Given the description of an element on the screen output the (x, y) to click on. 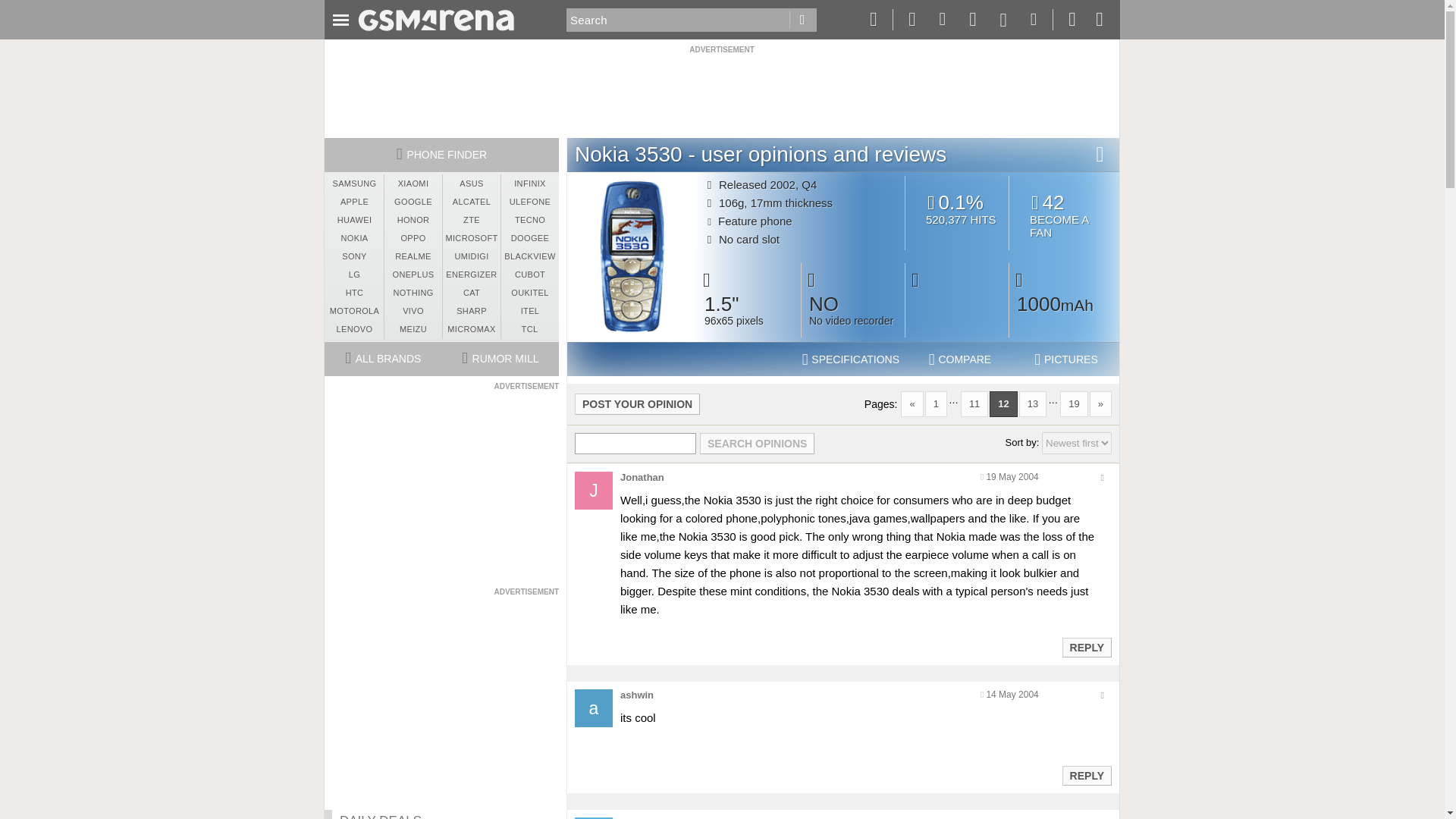
Go (802, 19)
SPECIFICATIONS (850, 359)
POST YOUR OPINION (637, 403)
COMPARE (960, 359)
Nokia 3530 phone specifications (850, 359)
Reply to this post (1086, 647)
11 (974, 403)
Sort comments by (1064, 214)
Search opinions (1077, 443)
Reply to this post (756, 443)
PICTURES (1086, 775)
Go (1066, 359)
